Given the description of an element on the screen output the (x, y) to click on. 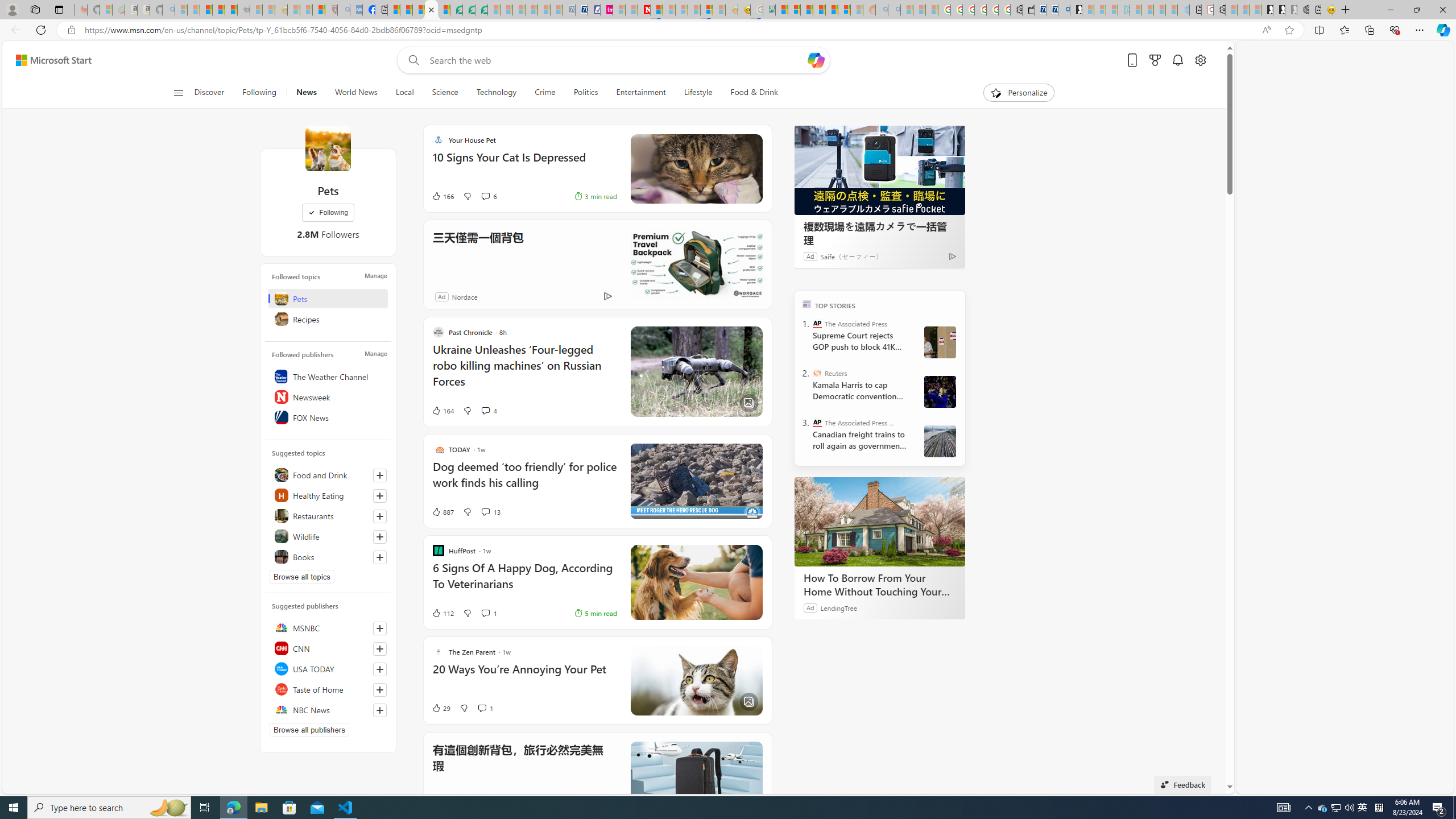
Food & Drink (748, 92)
Your House Pet10 Signs Your Cat Is Depressed1663 min read (596, 168)
Pets (327, 148)
